Given the description of an element on the screen output the (x, y) to click on. 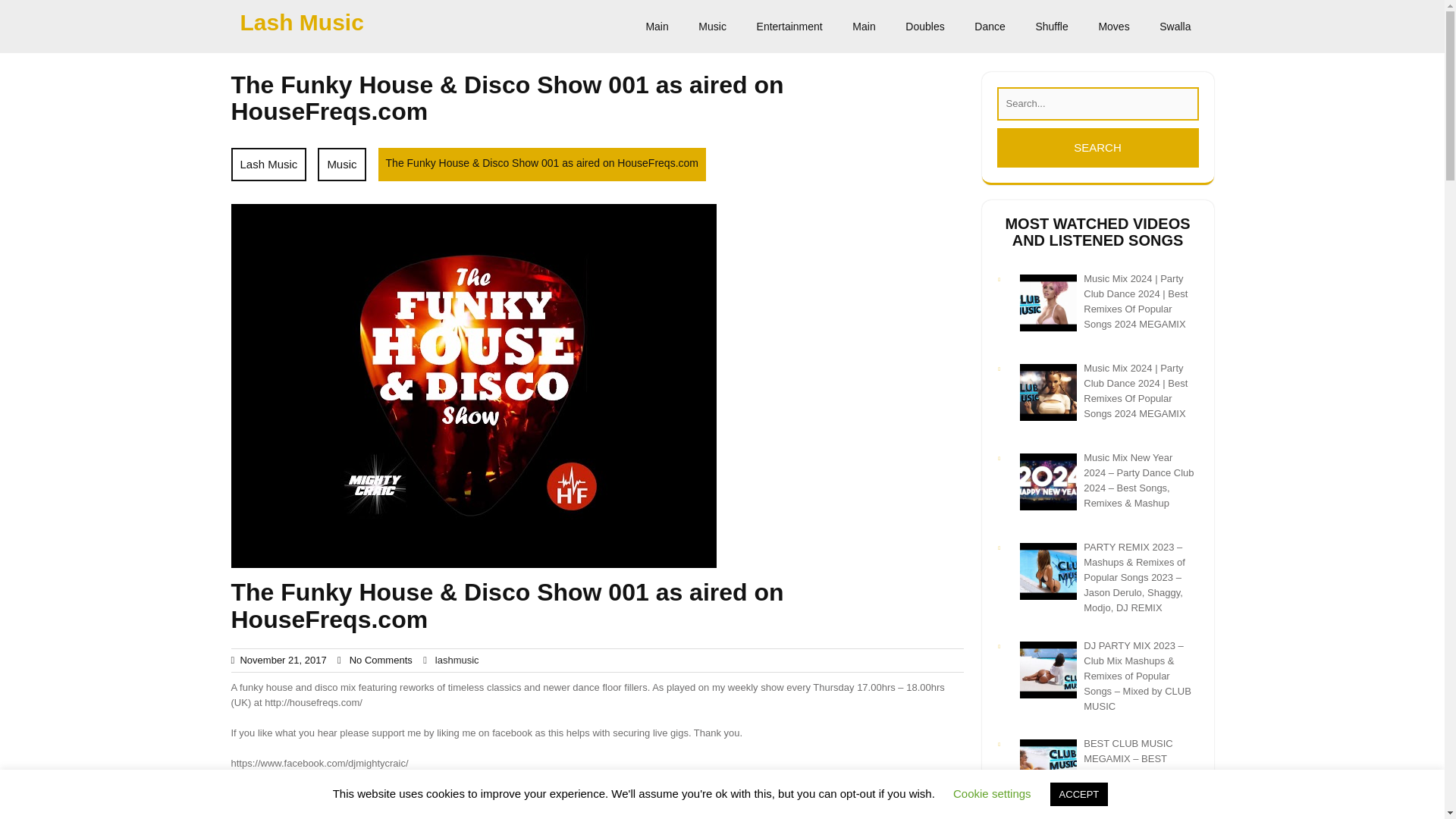
Doubles (924, 26)
Music (711, 26)
Search (1096, 147)
Entertainment (788, 26)
Search (1096, 147)
Dance (988, 26)
Music (341, 164)
Lash Music (301, 22)
Moves (1113, 26)
Main (863, 26)
Swalla (1174, 26)
Main (656, 26)
Shuffle (1051, 26)
Lash Music (267, 164)
Search (1096, 147)
